Given the description of an element on the screen output the (x, y) to click on. 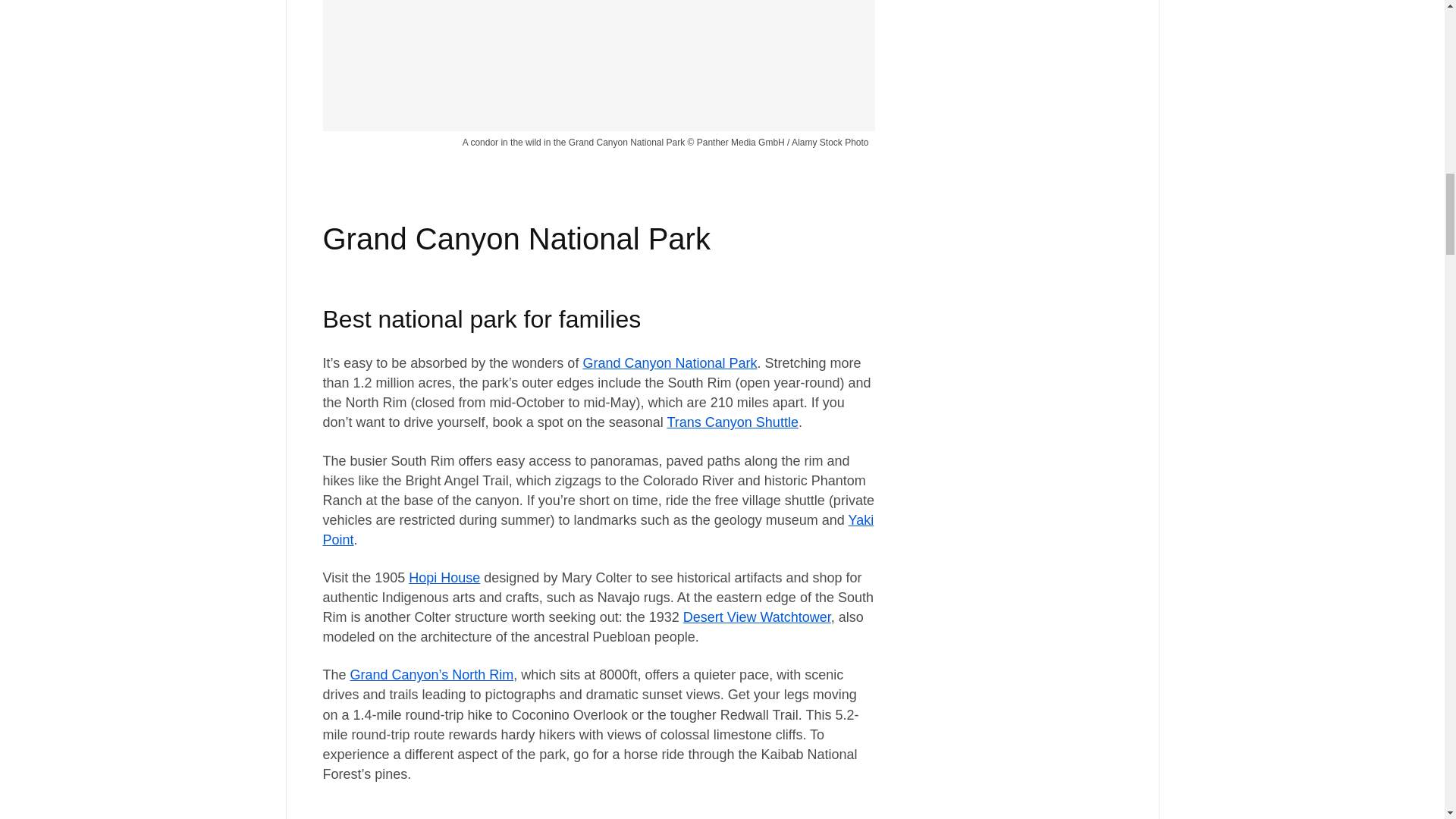
Grand Canyon National Park (669, 363)
Yaki Point (599, 529)
Hopi House (444, 577)
Desert View Watchtower (756, 616)
Trans Canyon Shuttle (731, 421)
